Given the description of an element on the screen output the (x, y) to click on. 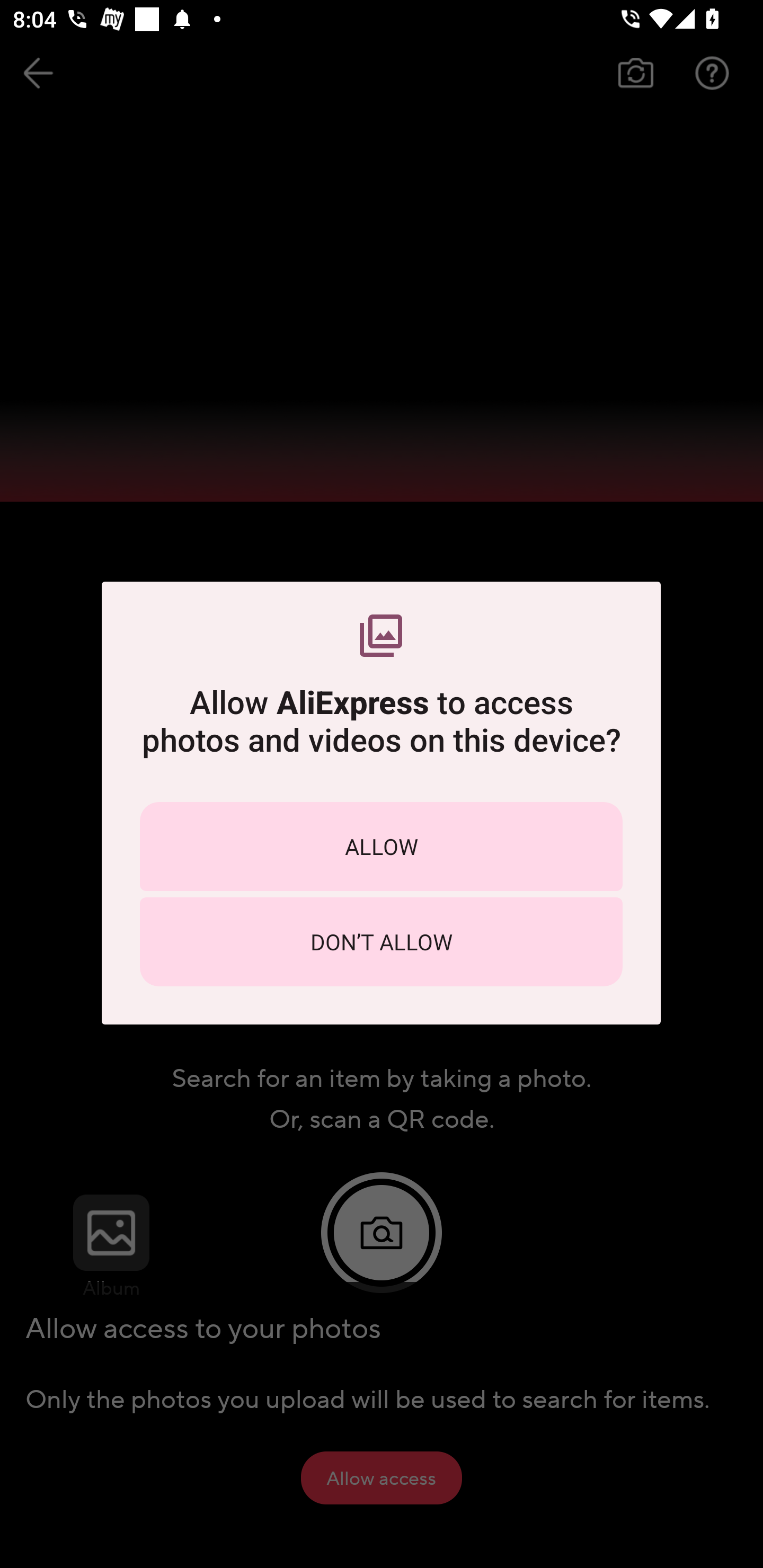
ALLOW (380, 845)
DON’T ALLOW (380, 941)
